Given the description of an element on the screen output the (x, y) to click on. 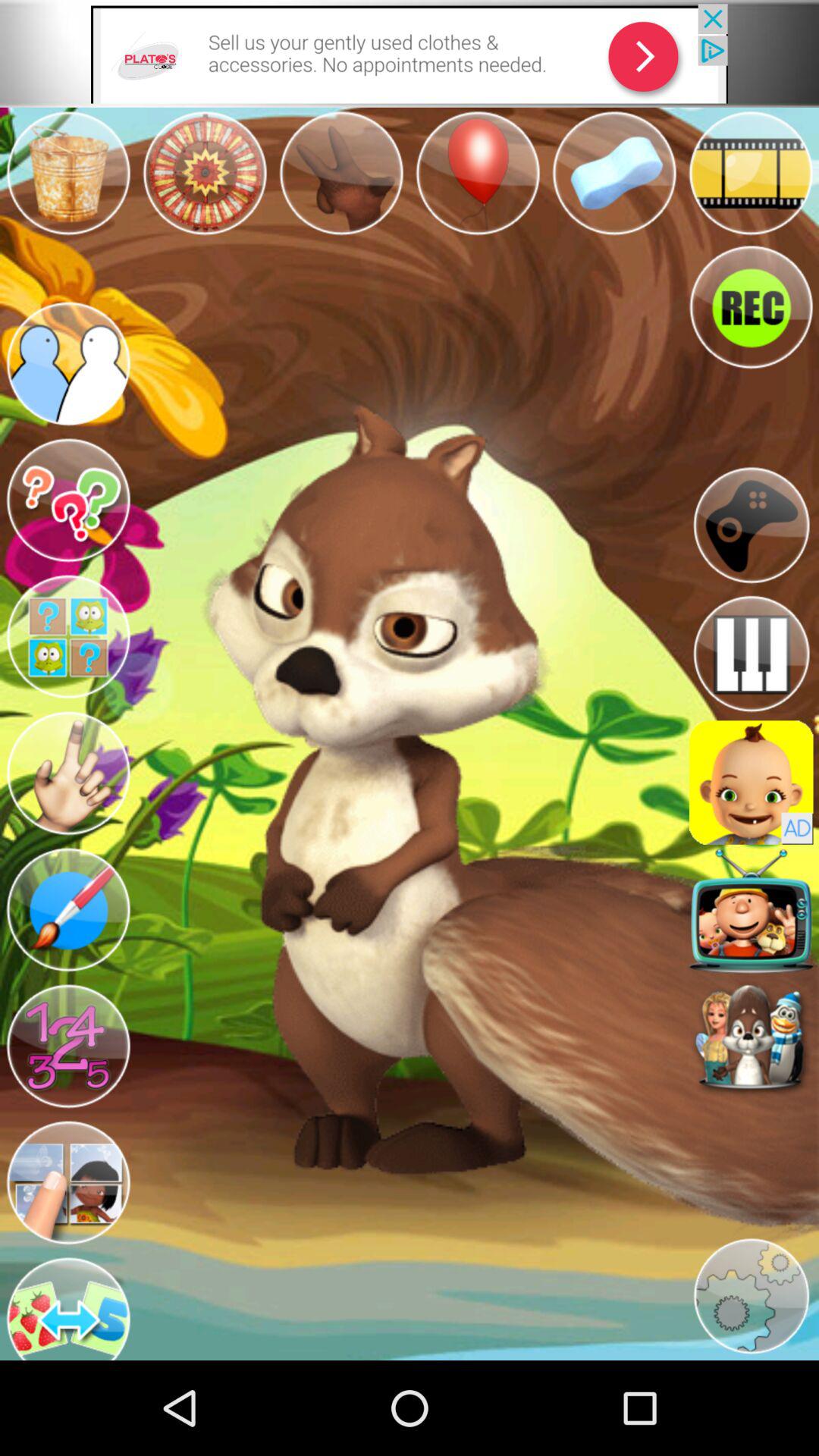
activate blinking red square (751, 910)
